Given the description of an element on the screen output the (x, y) to click on. 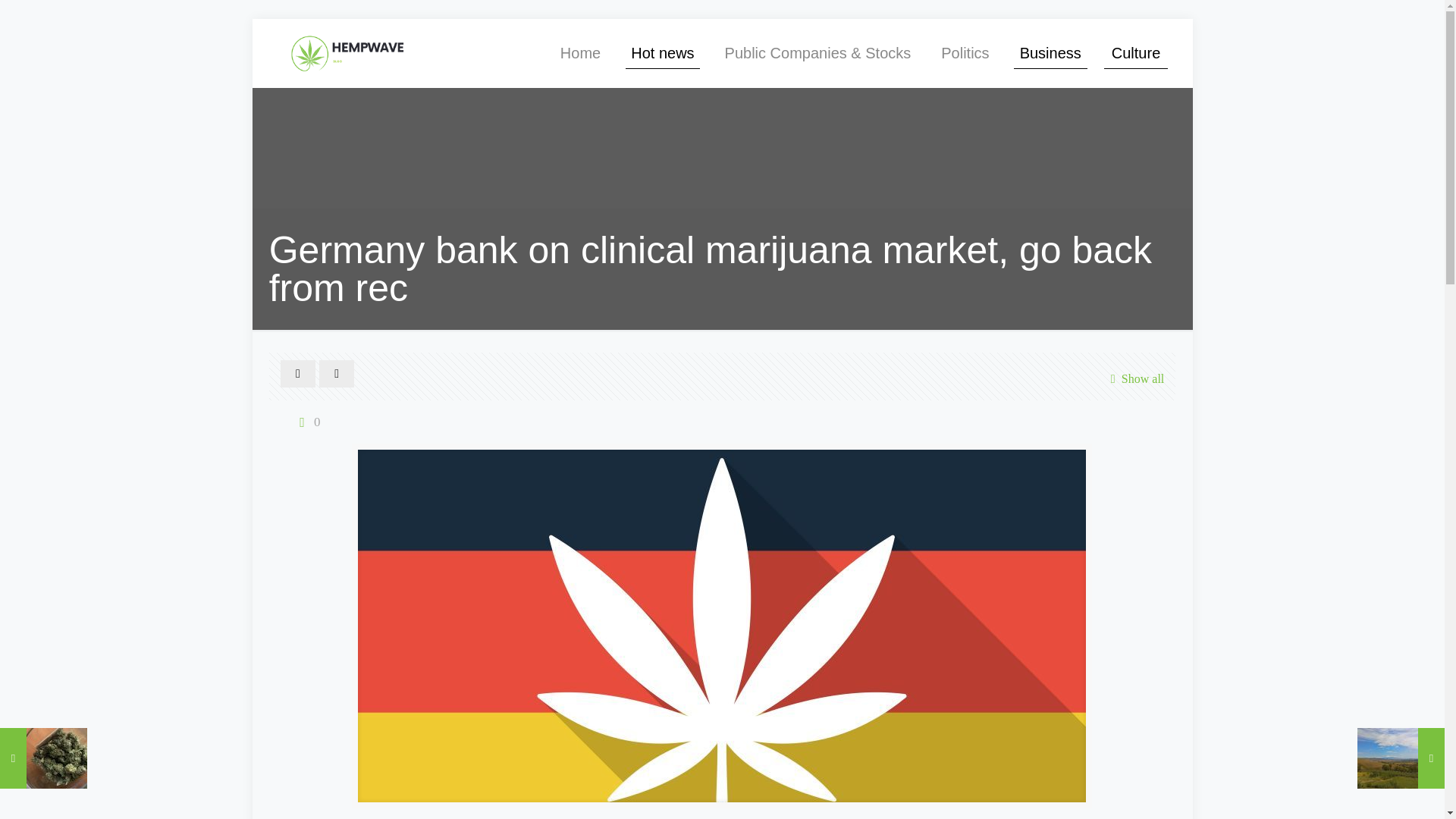
Show all (1133, 378)
Business (1050, 52)
Culture (1135, 52)
Hempwave (348, 52)
Hot news (662, 52)
0 (306, 421)
Politics (965, 52)
Home (579, 52)
